Given the description of an element on the screen output the (x, y) to click on. 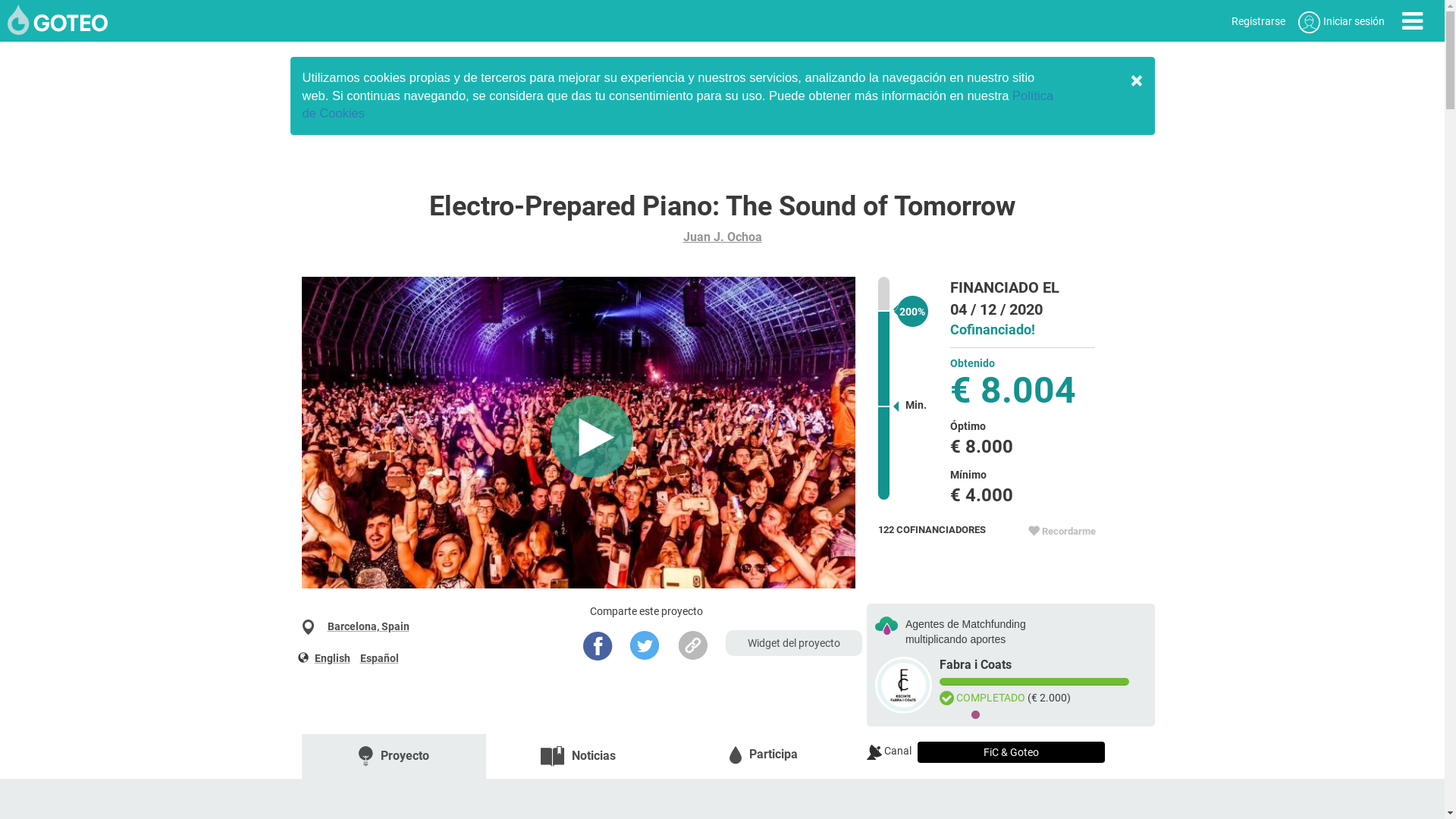
FiC & Goteo Element type: text (1010, 751)
1 Element type: text (975, 714)
Widget del proyecto Element type: text (793, 642)
Main menu Element type: hover (1412, 20)
English Element type: text (331, 658)
Juan J. Ochoa Element type: text (721, 236)
Registrarse Element type: text (1257, 20)
